Given the description of an element on the screen output the (x, y) to click on. 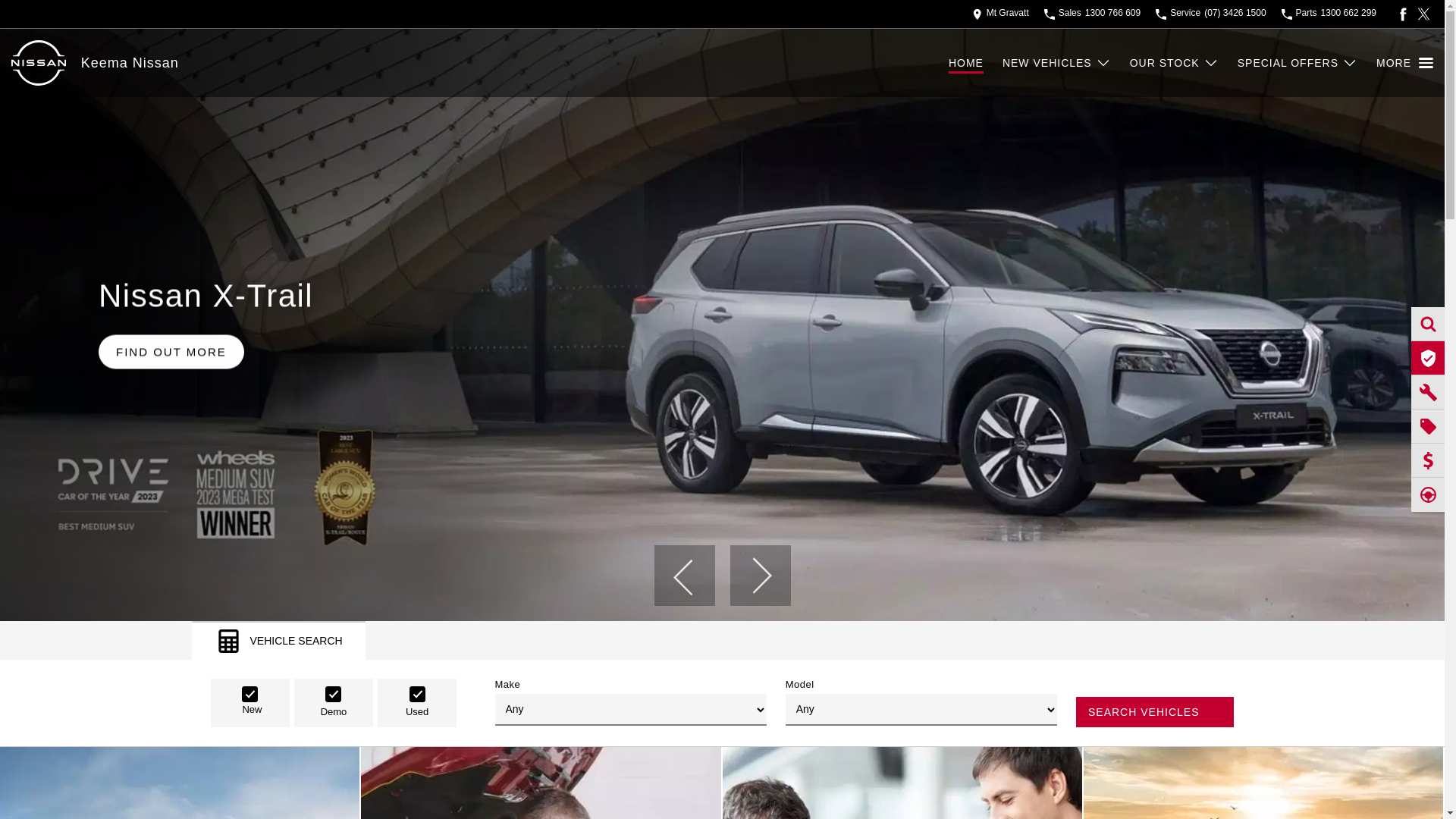
Sales
1300 766 609 Element type: text (1092, 13)
Service
(07) 3426 1500 Element type: text (1210, 13)
Parts
1300 662 299 Element type: text (1328, 13)
Nissan X-Trail
FIND OUT MORE Element type: text (722, 324)
Keema Nissan Element type: text (129, 62)
MORE Element type: text (1404, 62)
HOME Element type: text (975, 62)
VEHICLE SEARCH Element type: text (277, 640)
OUR STOCK Element type: text (1173, 62)
NEW VEHICLES Element type: text (1056, 62)
Next Element type: text (759, 575)
SEARCH VEHICLES Element type: text (1154, 711)
SPECIAL OFFERS Element type: text (1297, 62)
Mt Gravatt Element type: text (1000, 13)
Previous Element type: text (683, 575)
